Given the description of an element on the screen output the (x, y) to click on. 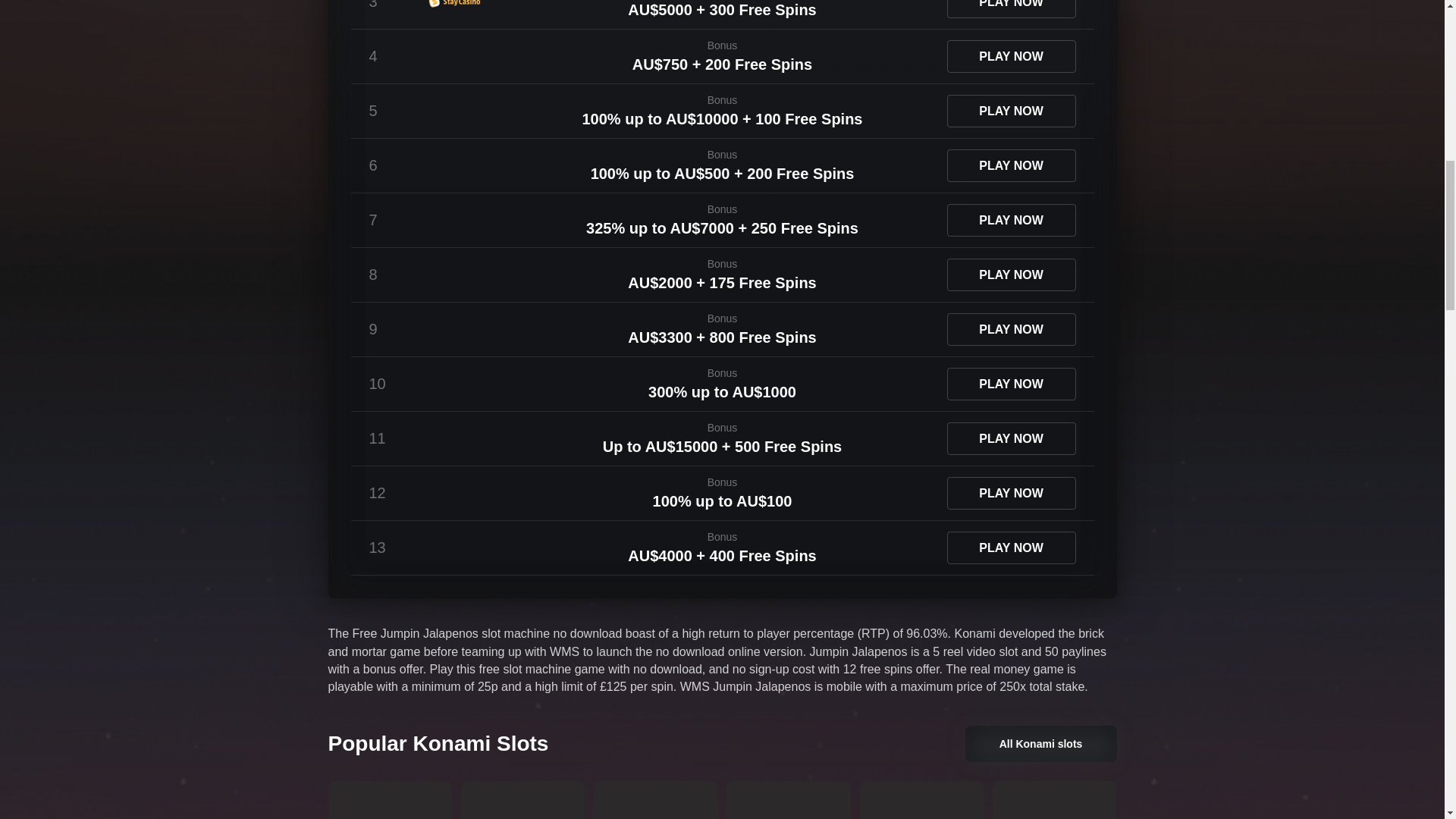
PLAY NOW (1010, 56)
PLAY NOW (1010, 9)
PLAY NOW (1010, 165)
PLAY NOW (1010, 111)
PLAY NOW (1010, 219)
